Given the description of an element on the screen output the (x, y) to click on. 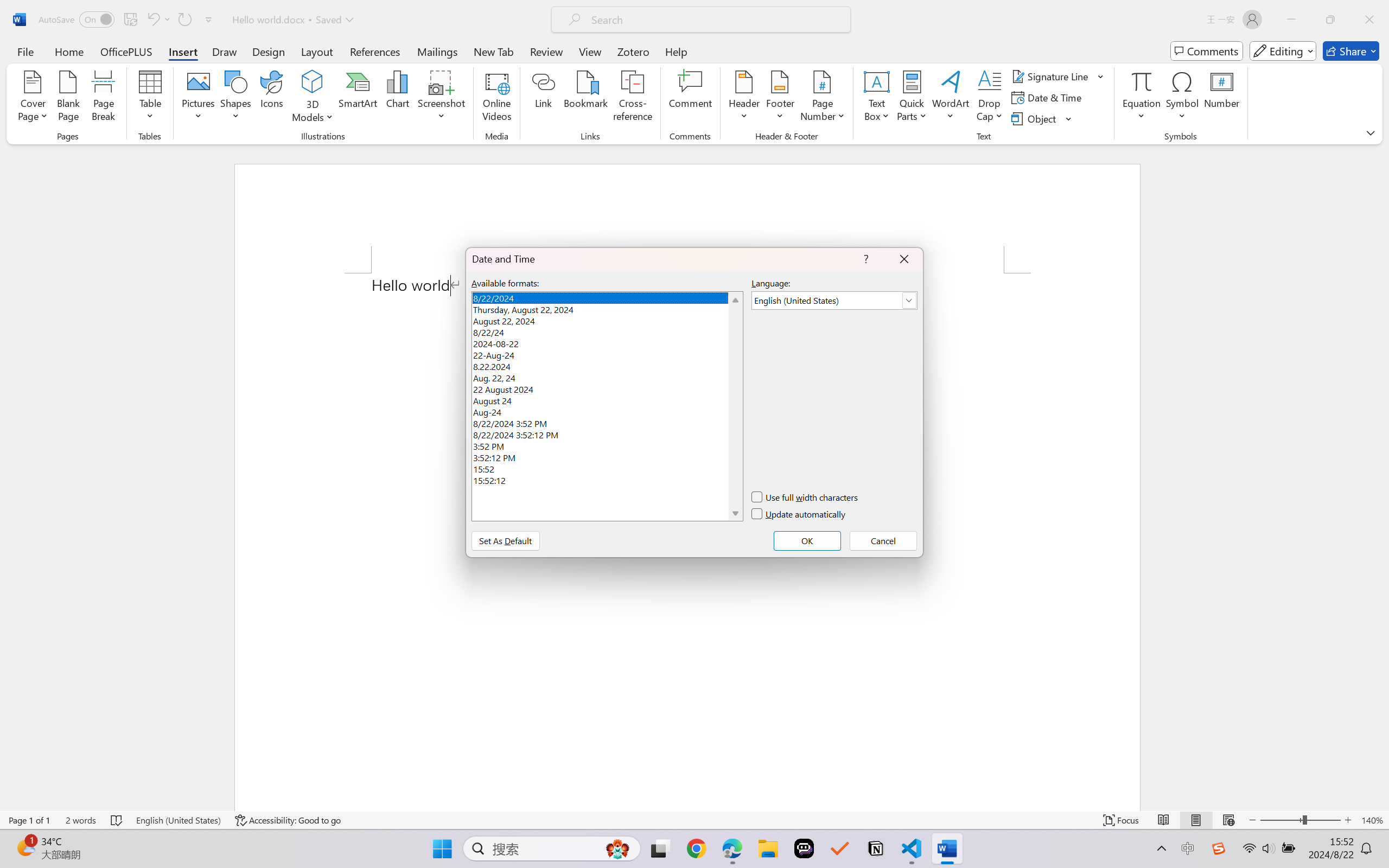
Page Number Page 1 of 1 (29, 819)
Equation (1141, 81)
Bookmark... (585, 97)
Read Mode (1163, 819)
File Tab (24, 51)
Date & Time... (1048, 97)
3D Models (312, 97)
Signature Line (1051, 75)
Microsoft search (715, 19)
Poe (804, 848)
Aug-24 (606, 410)
Text Box (876, 97)
